Given the description of an element on the screen output the (x, y) to click on. 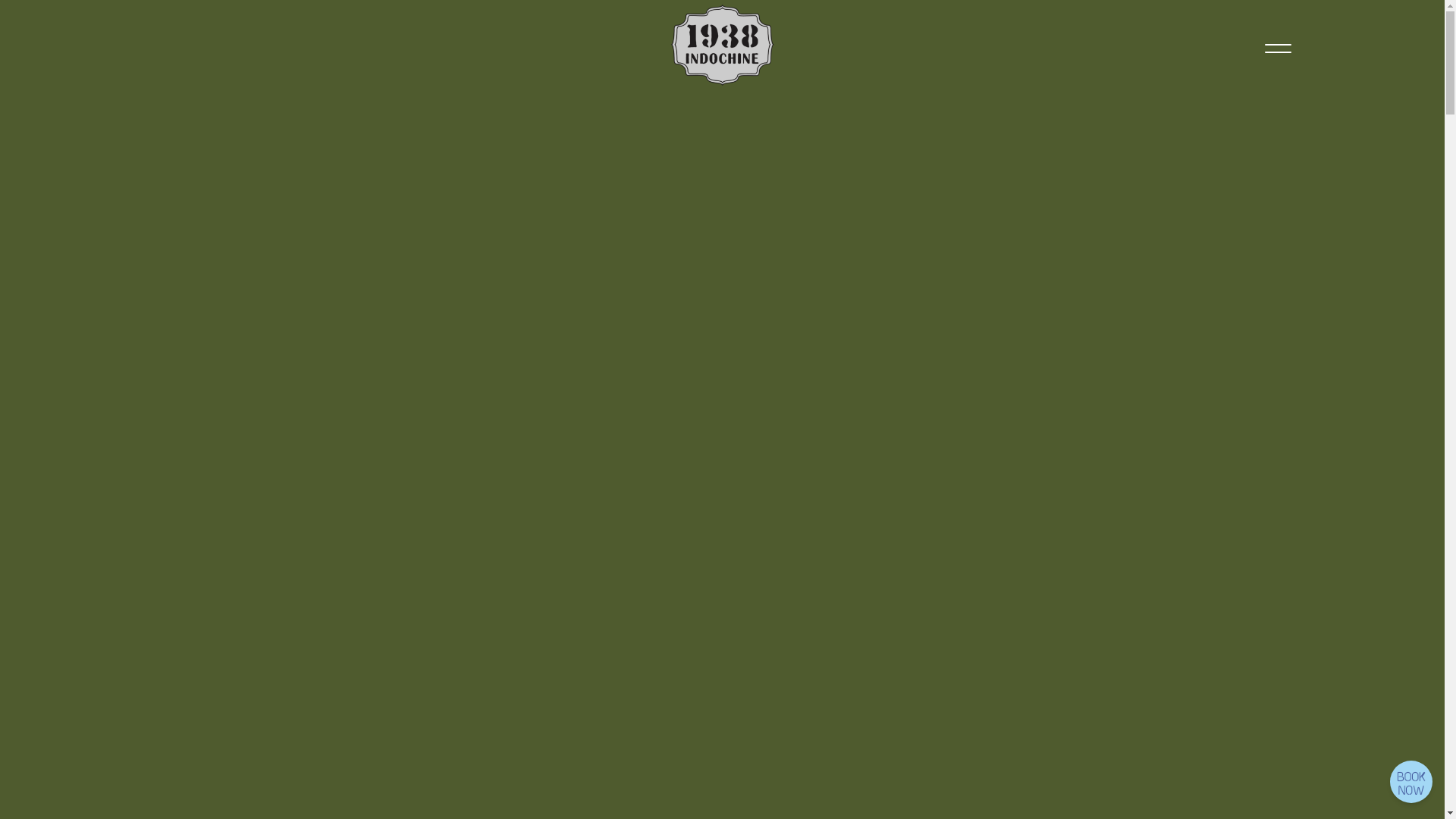
R E S E R V A T I O N Element type: hover (1410, 780)
